Given the description of an element on the screen output the (x, y) to click on. 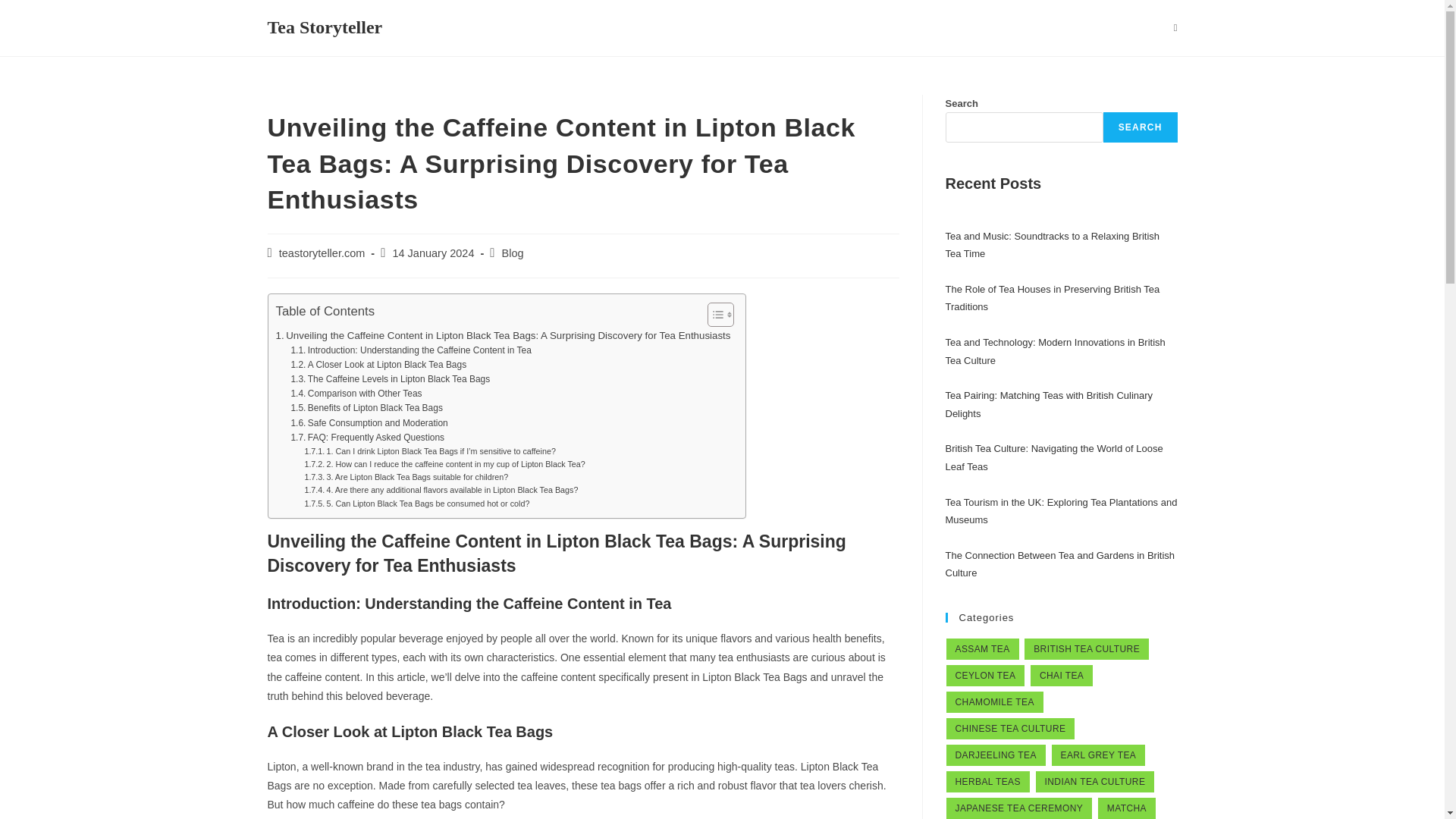
Tea and Music: Soundtracks to a Relaxing British Tea Time (1051, 244)
teastoryteller.com (322, 253)
Tea Storyteller (323, 26)
The Caffeine Levels in Lipton Black Tea Bags (389, 379)
3. Are Lipton Black Tea Bags suitable for children? (406, 477)
Introduction: Understanding the Caffeine Content in Tea (410, 350)
The Role of Tea Houses in Preserving British Tea Traditions (1051, 297)
Blog (513, 253)
